Given the description of an element on the screen output the (x, y) to click on. 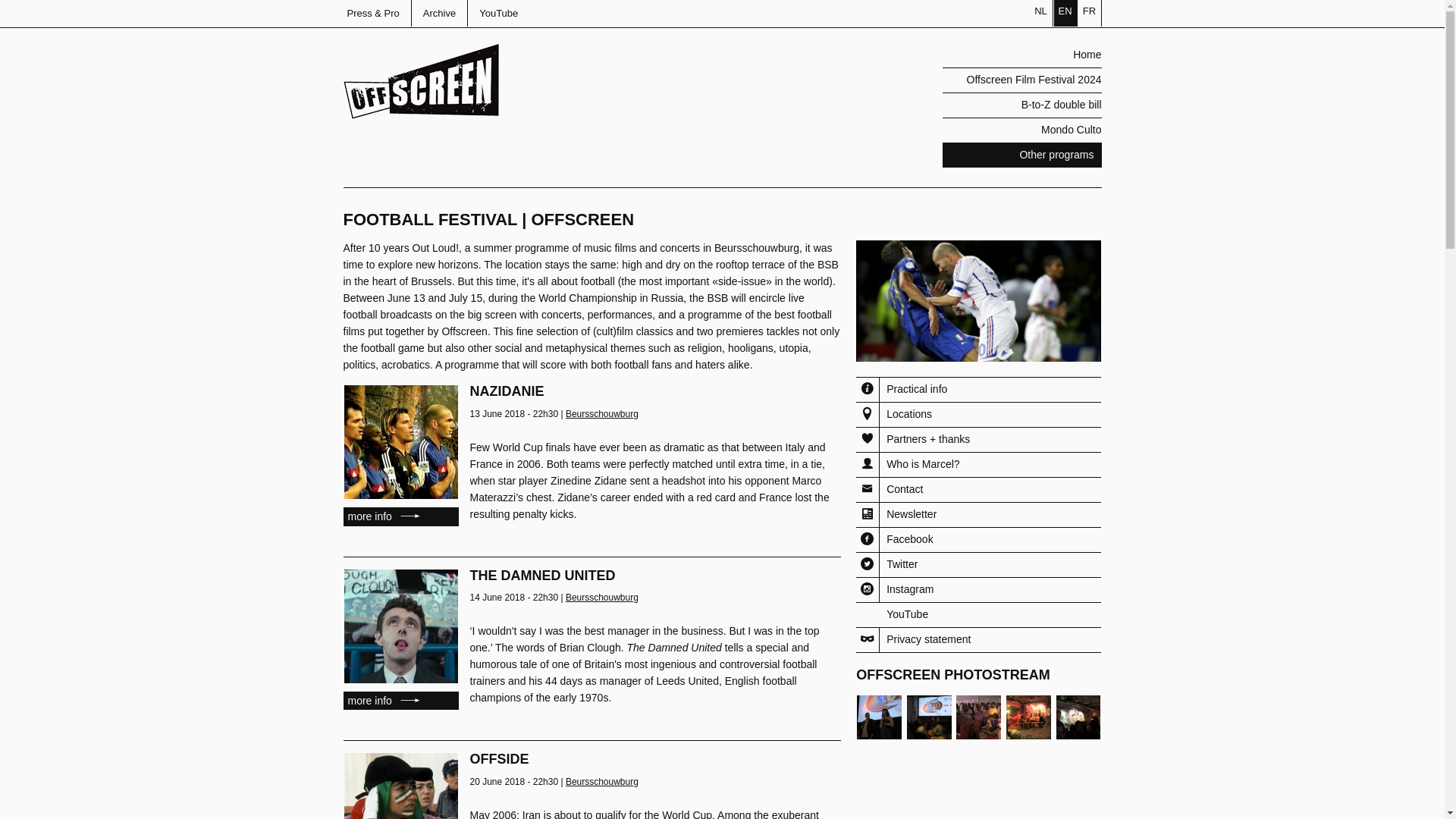
Home (1021, 55)
Home (419, 50)
Beursschouwburg (602, 597)
Beursschouwburg (602, 413)
YouTube (498, 12)
more info (400, 516)
NAZIDANIE (507, 391)
Mondo Culto (1021, 130)
Archive (439, 12)
Other programs (1021, 155)
Offscreen Film Festival 2024 (1021, 80)
OFFSIDE (499, 758)
THE DAMNED UNITED (542, 575)
B-to-Z double bill (1021, 105)
